Given the description of an element on the screen output the (x, y) to click on. 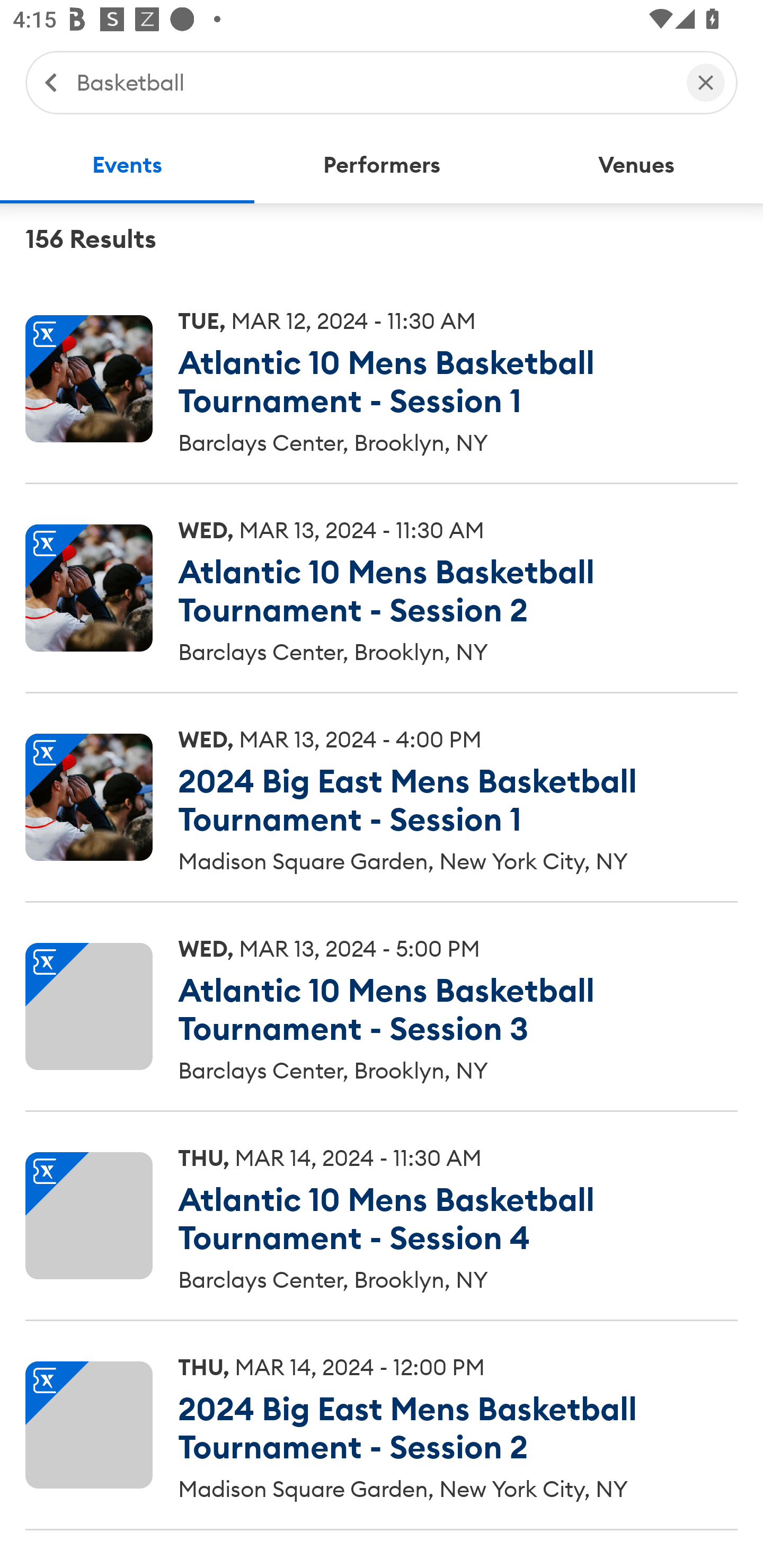
Basketball (371, 81)
Clear Search (705, 81)
Performers (381, 165)
Venues (635, 165)
